Given the description of an element on the screen output the (x, y) to click on. 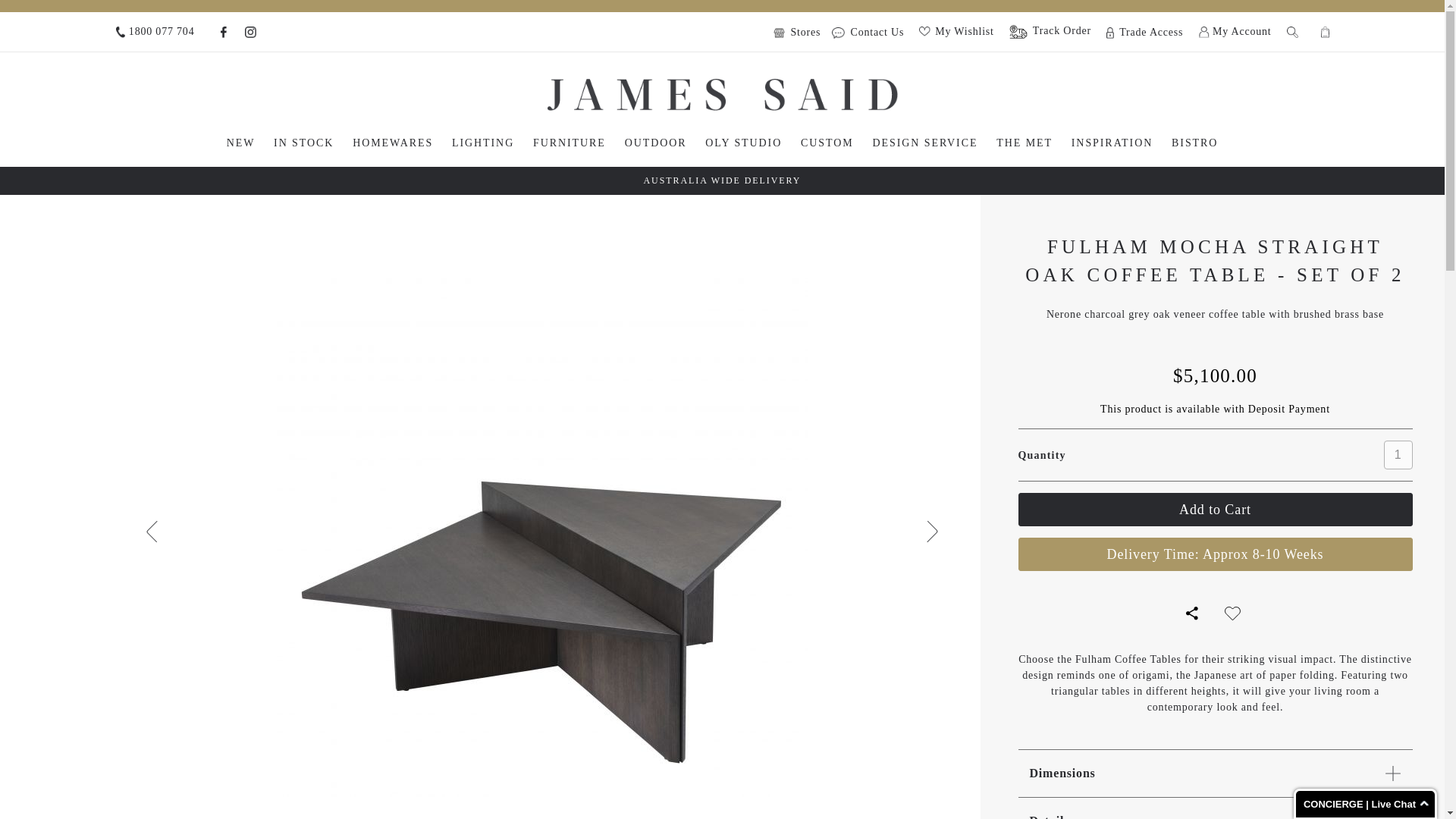
1800 077 704 (154, 31)
My Account (1234, 31)
Trade Access (1144, 32)
My Wishlist (956, 30)
Stores (800, 32)
Jamessaid (722, 94)
1 (1397, 454)
Qty (1397, 454)
IN STOCK (303, 142)
Contact Us (867, 32)
Add to Cart (1214, 509)
HOMEWARES (393, 142)
Track Order (1049, 31)
NEW (241, 142)
